Given the description of an element on the screen output the (x, y) to click on. 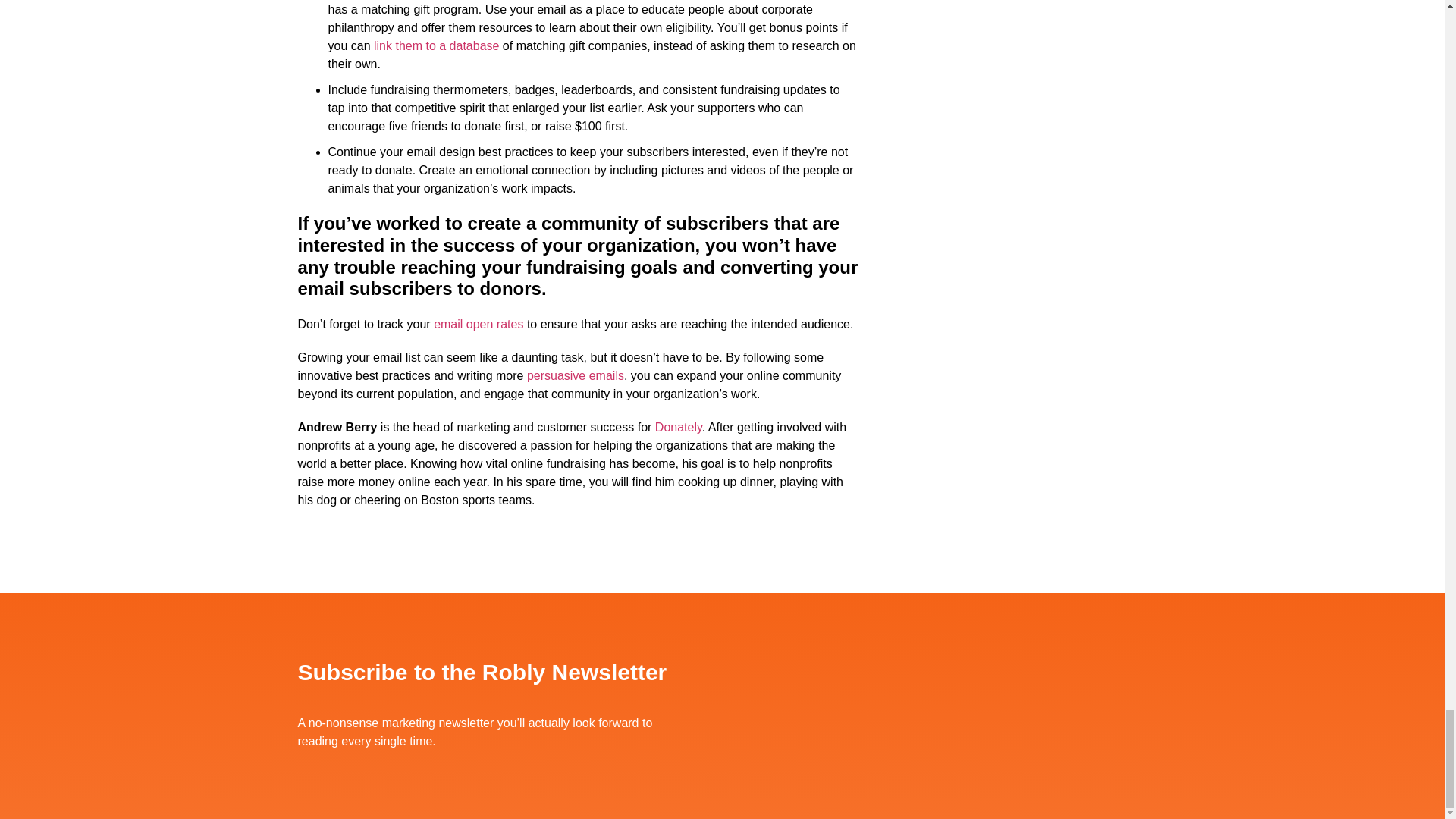
link them to a database (436, 45)
email open rates (477, 323)
persuasive emails (575, 375)
Donately (678, 427)
